Given the description of an element on the screen output the (x, y) to click on. 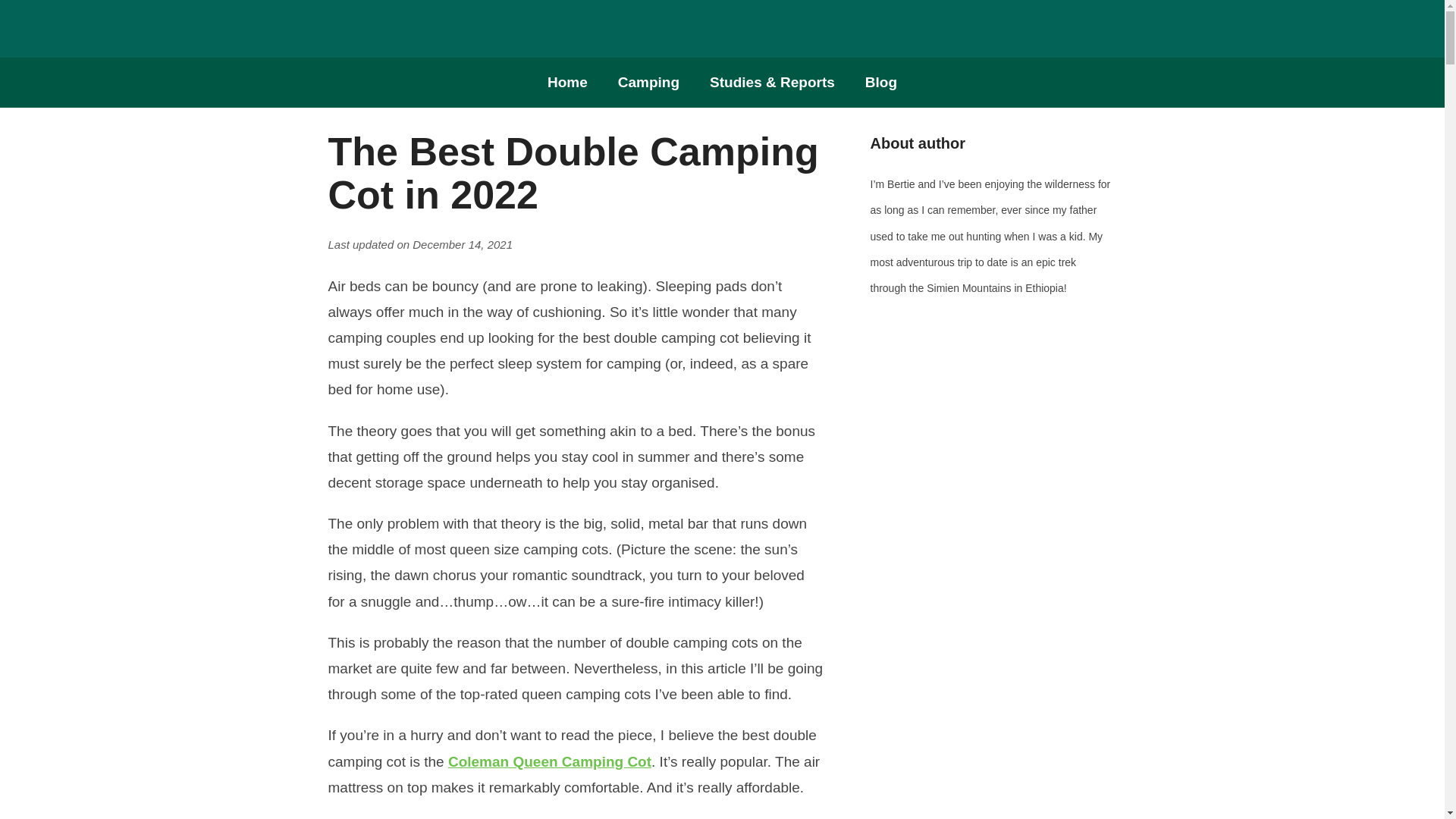
Coleman Queen Camping Cot (549, 761)
Home (567, 82)
Blog (881, 82)
Camping (648, 82)
